Given the description of an element on the screen output the (x, y) to click on. 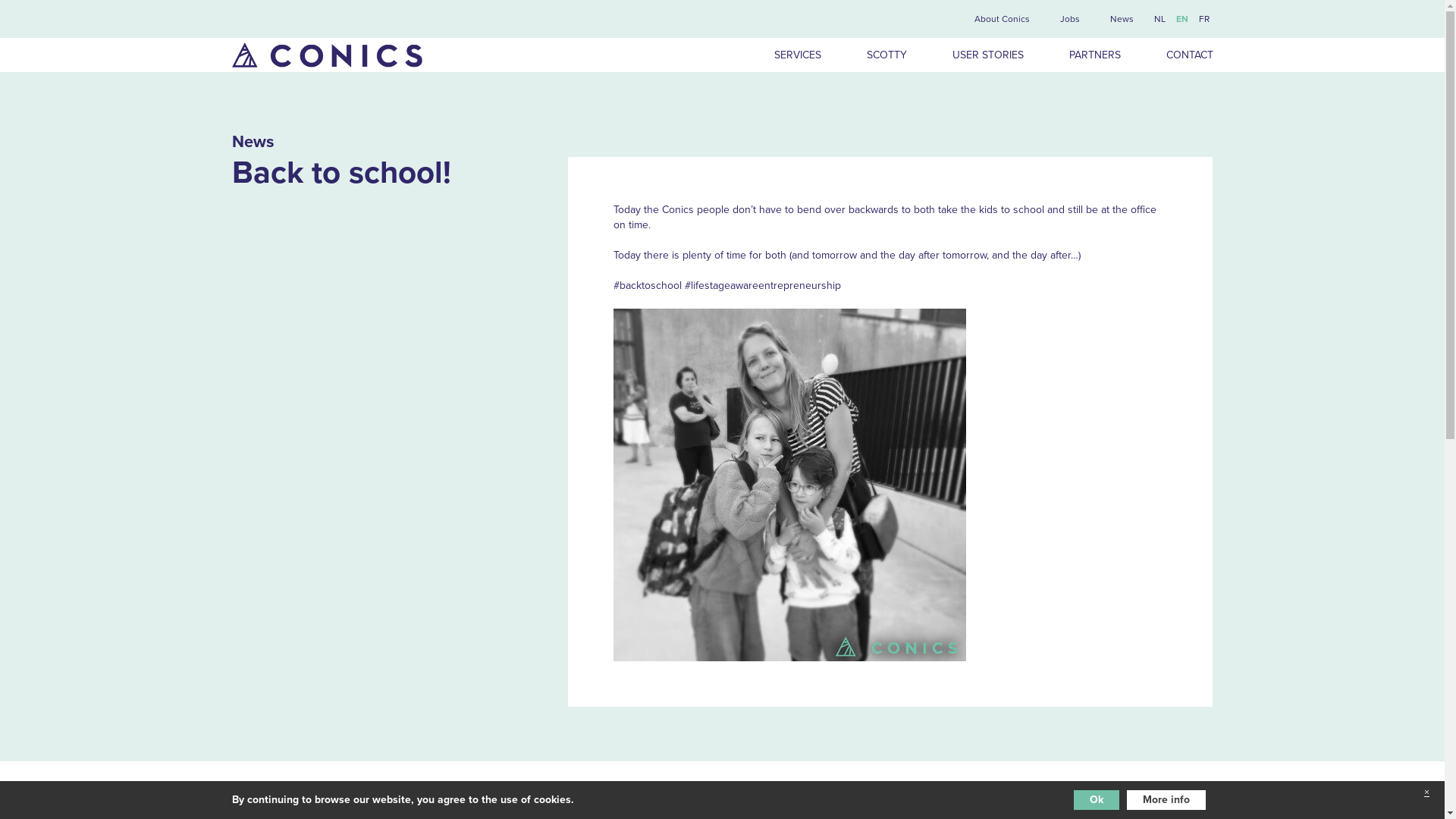
SCOTTY Element type: text (885, 54)
News Element type: text (253, 141)
CONTACT Element type: text (1178, 54)
EN Element type: text (1181, 18)
NL Element type: text (1159, 18)
About Conics Element type: text (1001, 18)
logo conics Element type: hover (327, 54)
PARTNERS Element type: text (1094, 54)
More info Element type: text (1165, 799)
Jobs Element type: text (1068, 18)
FR Element type: text (1203, 18)
USER STORIES Element type: text (987, 54)
News Element type: text (1120, 18)
SERVICES Element type: text (796, 54)
Ok Element type: text (1096, 799)
